Given the description of an element on the screen output the (x, y) to click on. 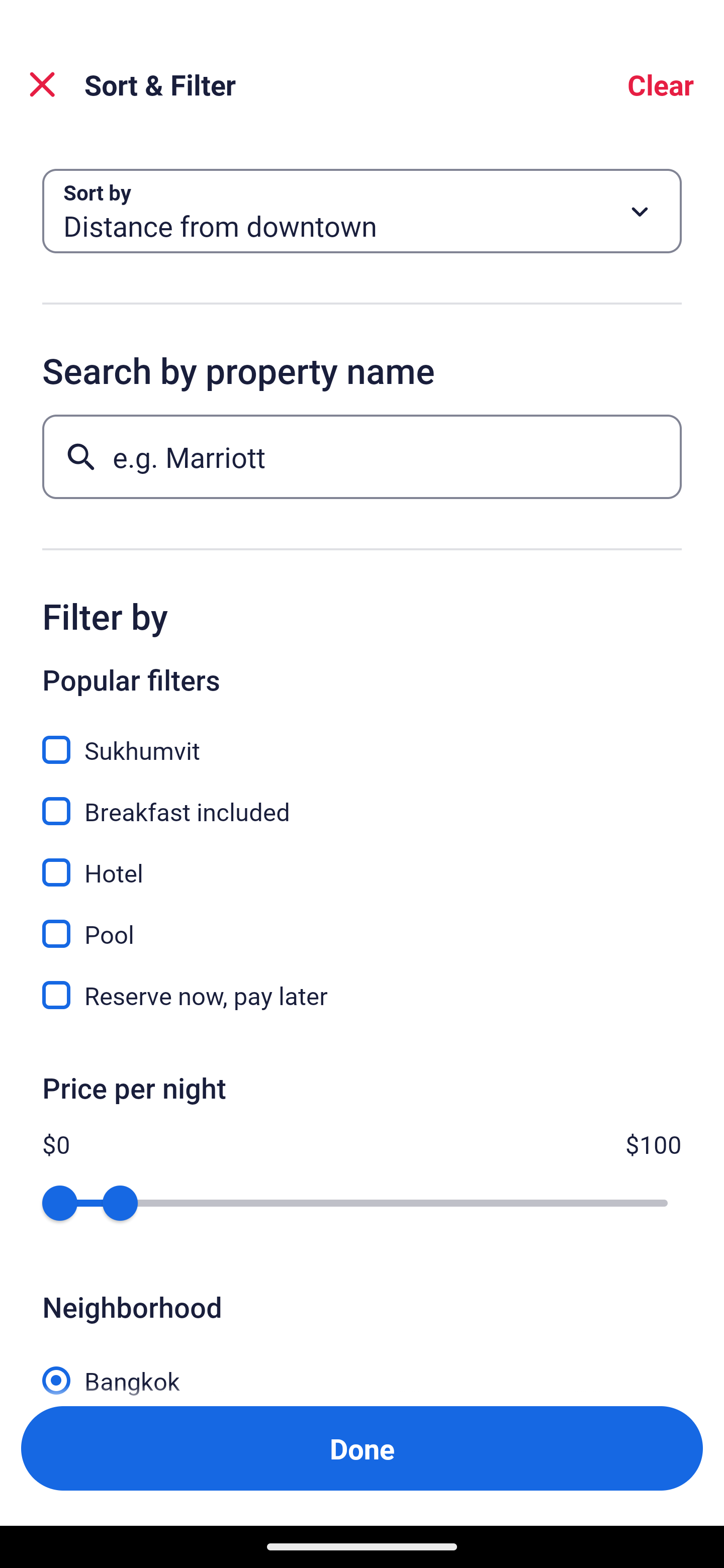
Close Sort and Filter (42, 84)
Clear (660, 84)
Sort by Button Distance from downtown (361, 211)
e.g. Marriott Button (361, 455)
Sukhumvit, Sukhumvit (361, 738)
Breakfast included, Breakfast included (361, 800)
Hotel, Hotel (361, 861)
Pool, Pool (361, 922)
Reserve now, pay later, Reserve now, pay later (361, 995)
Apply and close Sort and Filter Done (361, 1448)
